Given the description of an element on the screen output the (x, y) to click on. 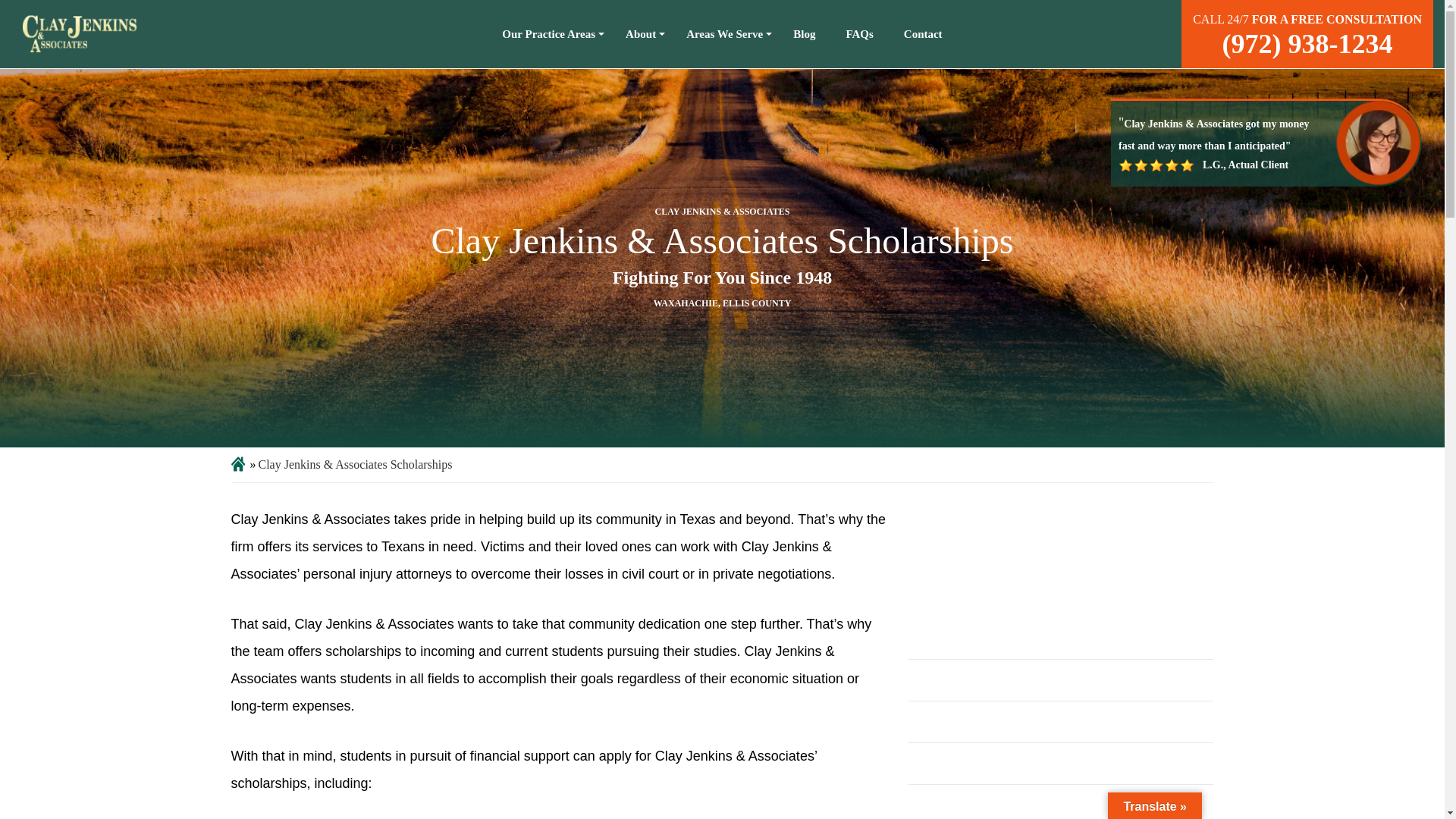
phone (1308, 43)
Our Practice Areas (548, 33)
Areas We Serve (723, 33)
